Given the description of an element on the screen output the (x, y) to click on. 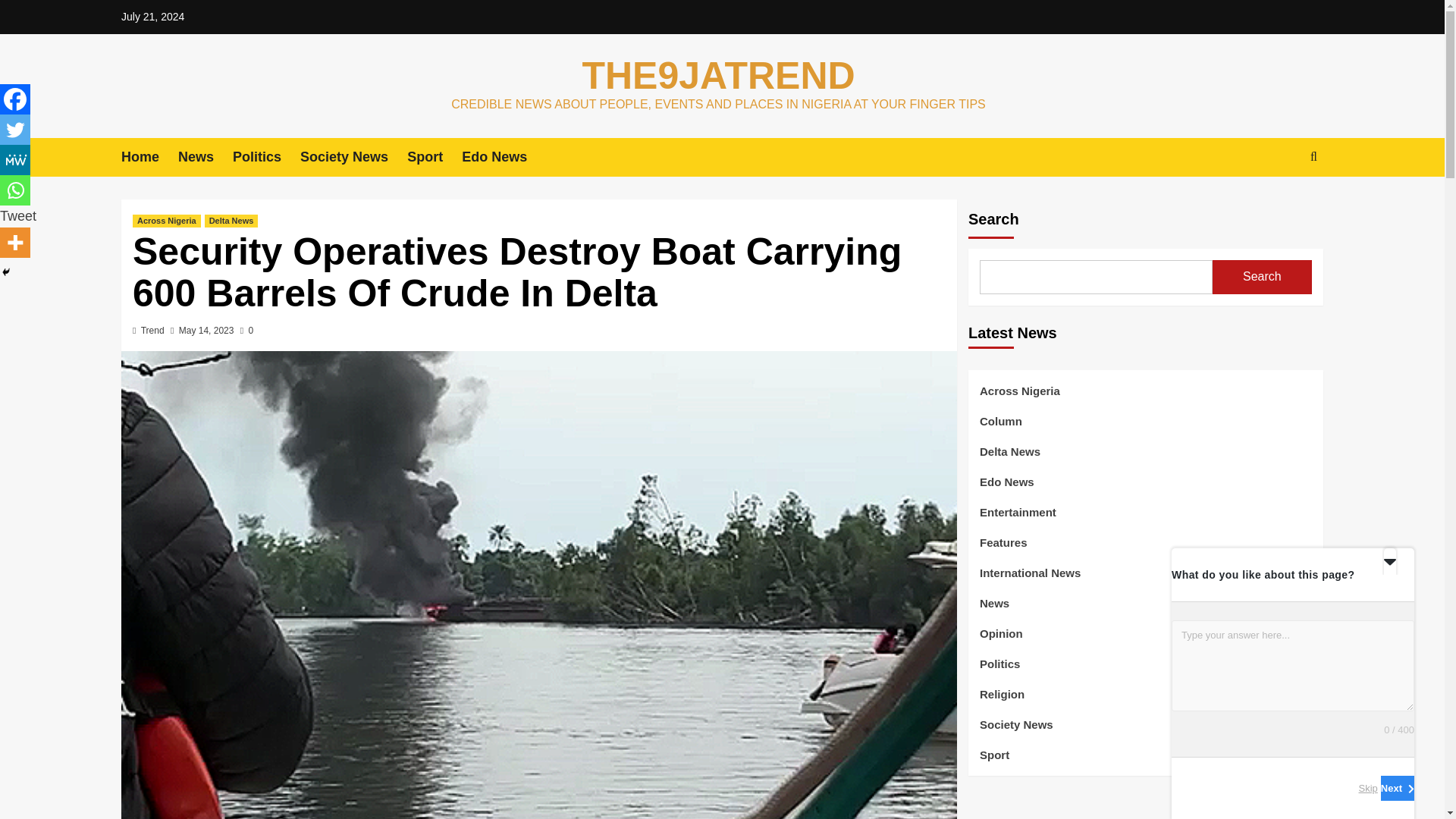
May 14, 2023 (206, 330)
0 (246, 330)
Search (1278, 203)
Politics (265, 157)
Home (148, 157)
Edo News (503, 157)
Delta News (232, 220)
THE9JATREND (717, 75)
Society News (353, 157)
Tweet (18, 215)
Trend (152, 330)
Across Nigeria (166, 220)
News (204, 157)
Sport (434, 157)
